Given the description of an element on the screen output the (x, y) to click on. 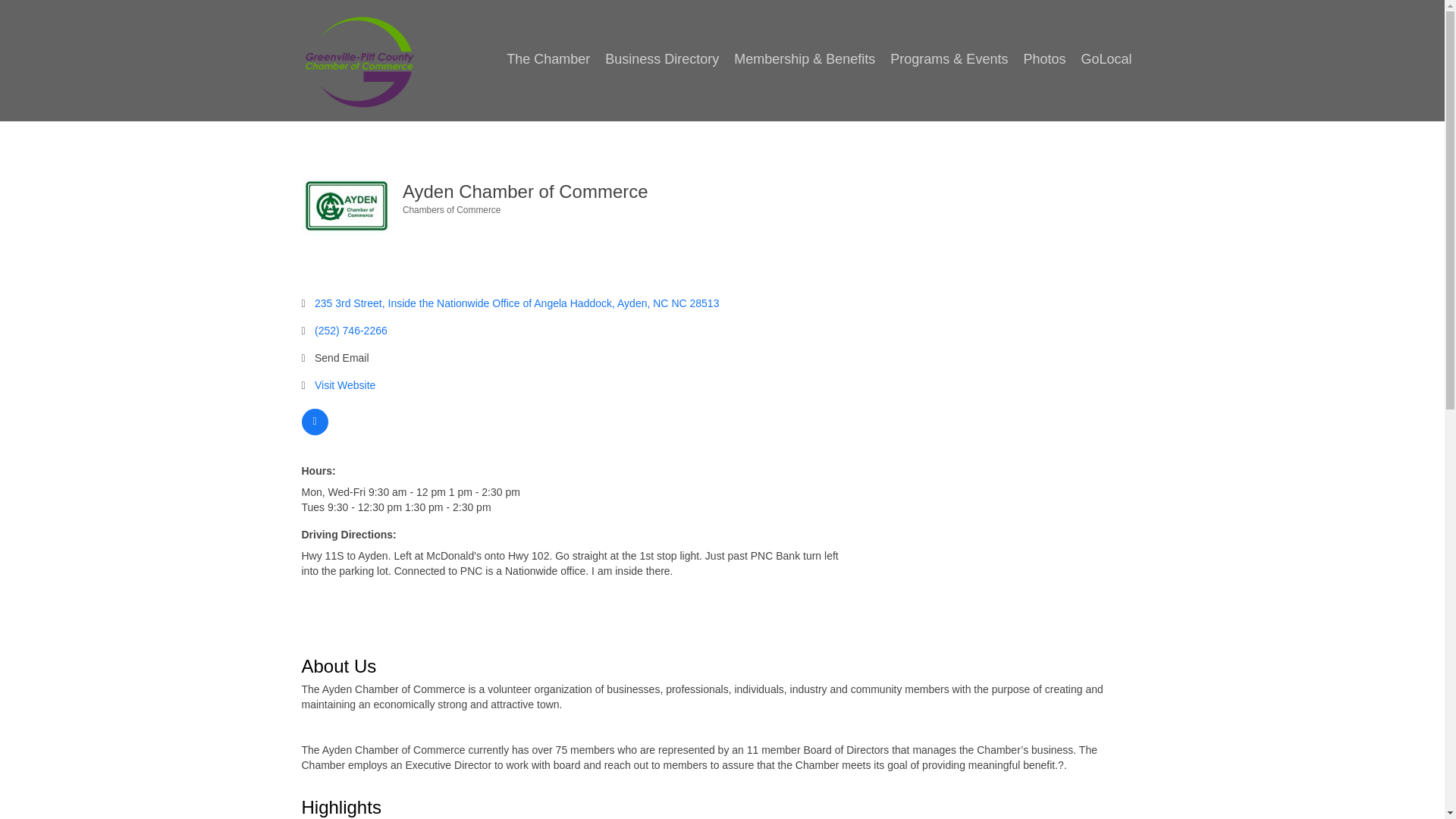
Photos (1043, 59)
Business Directory (661, 59)
The Chamber (547, 59)
Ayden Chamber of Commerce (346, 205)
View on Facebook (315, 431)
GoLocal (1105, 59)
